Given the description of an element on the screen output the (x, y) to click on. 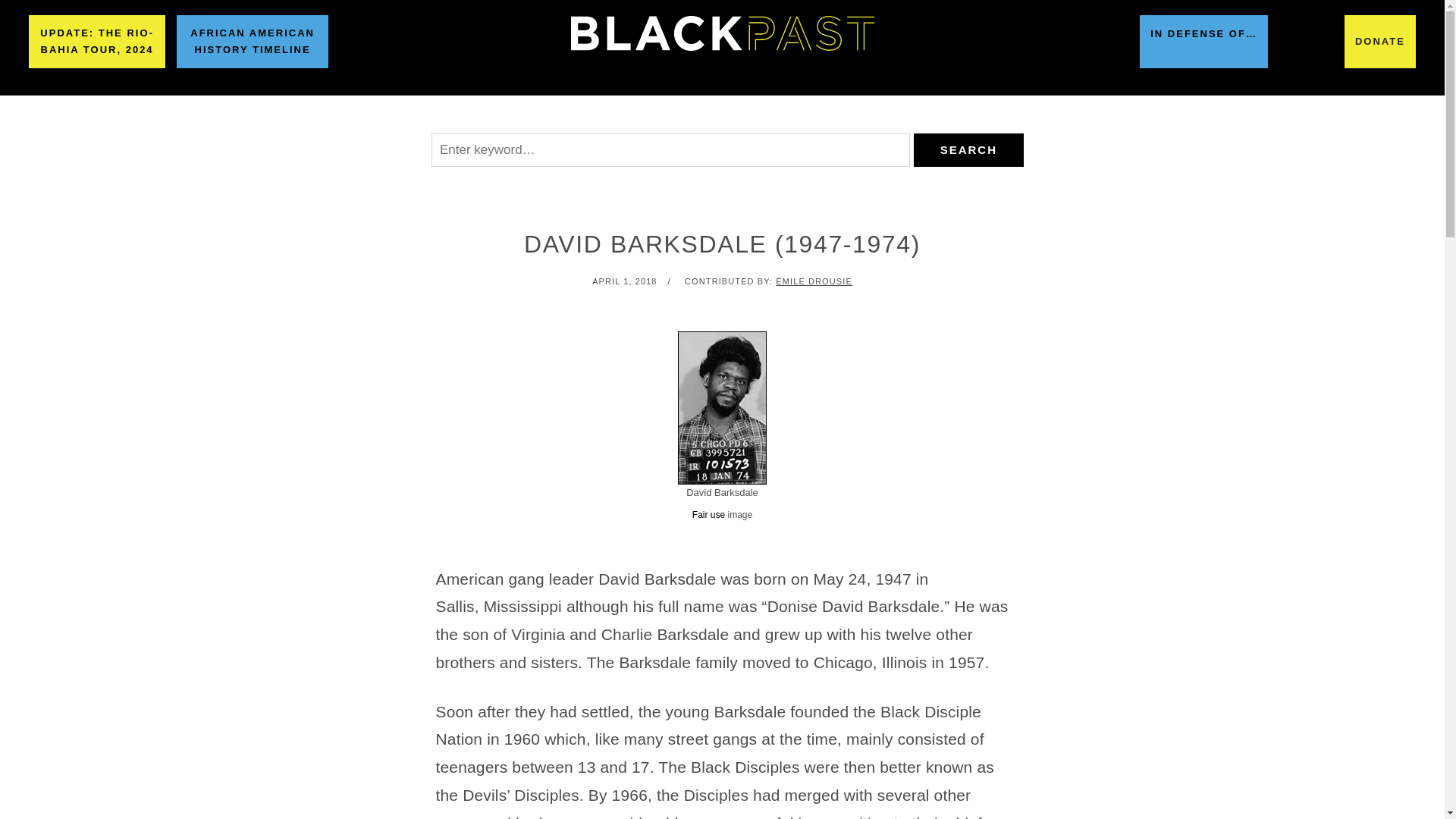
AFRICAN AMERICAN HISTORY TIMELINE (252, 40)
AFRICAN AMERICAN HISTORY (414, 114)
UPDATE: THE RIO-BAHIA TOUR, 2024 (97, 40)
DONATE (1379, 41)
GLOBAL AFRICAN HISTORY (629, 114)
